Given the description of an element on the screen output the (x, y) to click on. 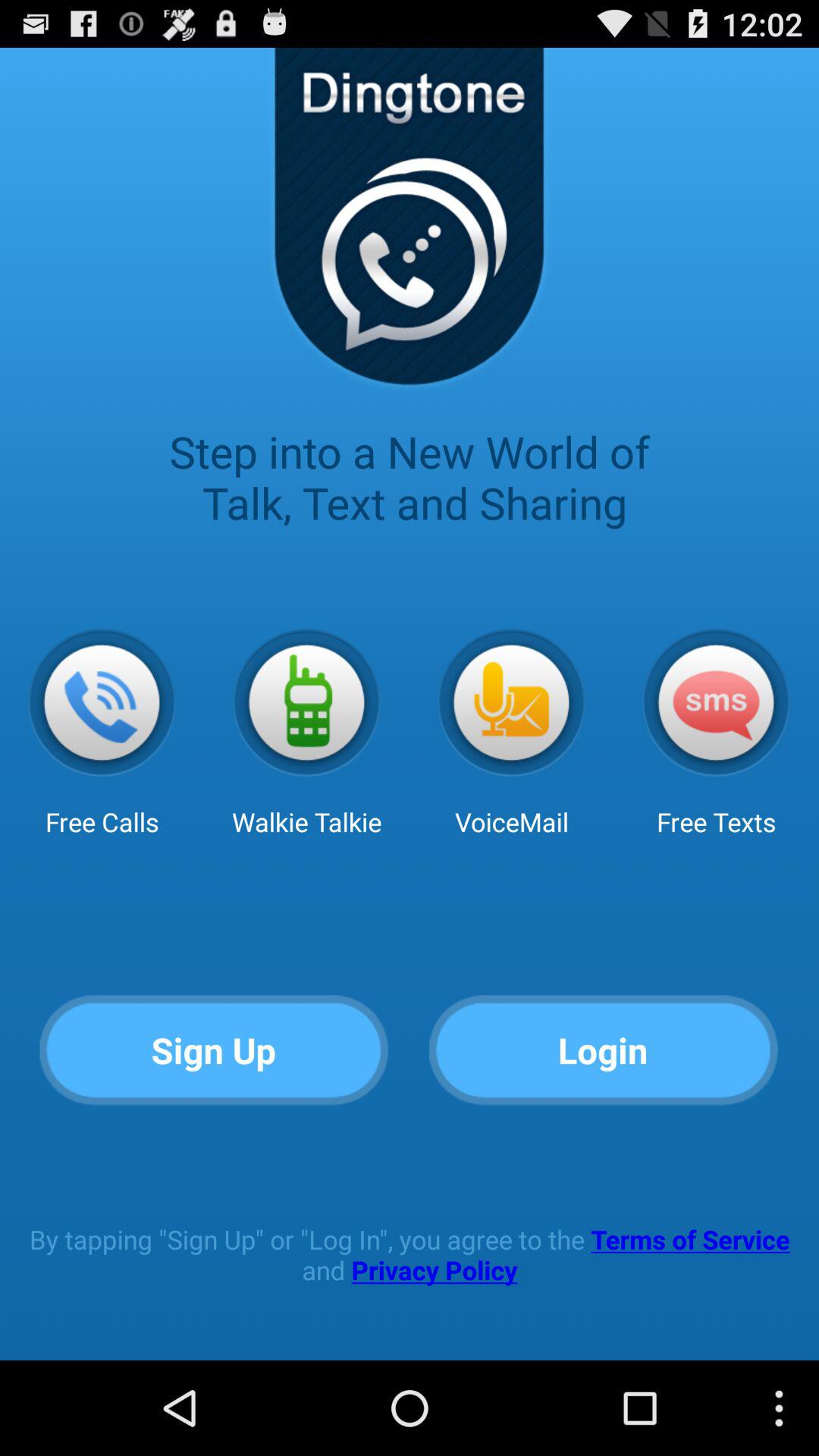
turn off the button next to the sign up button (604, 1050)
